Given the description of an element on the screen output the (x, y) to click on. 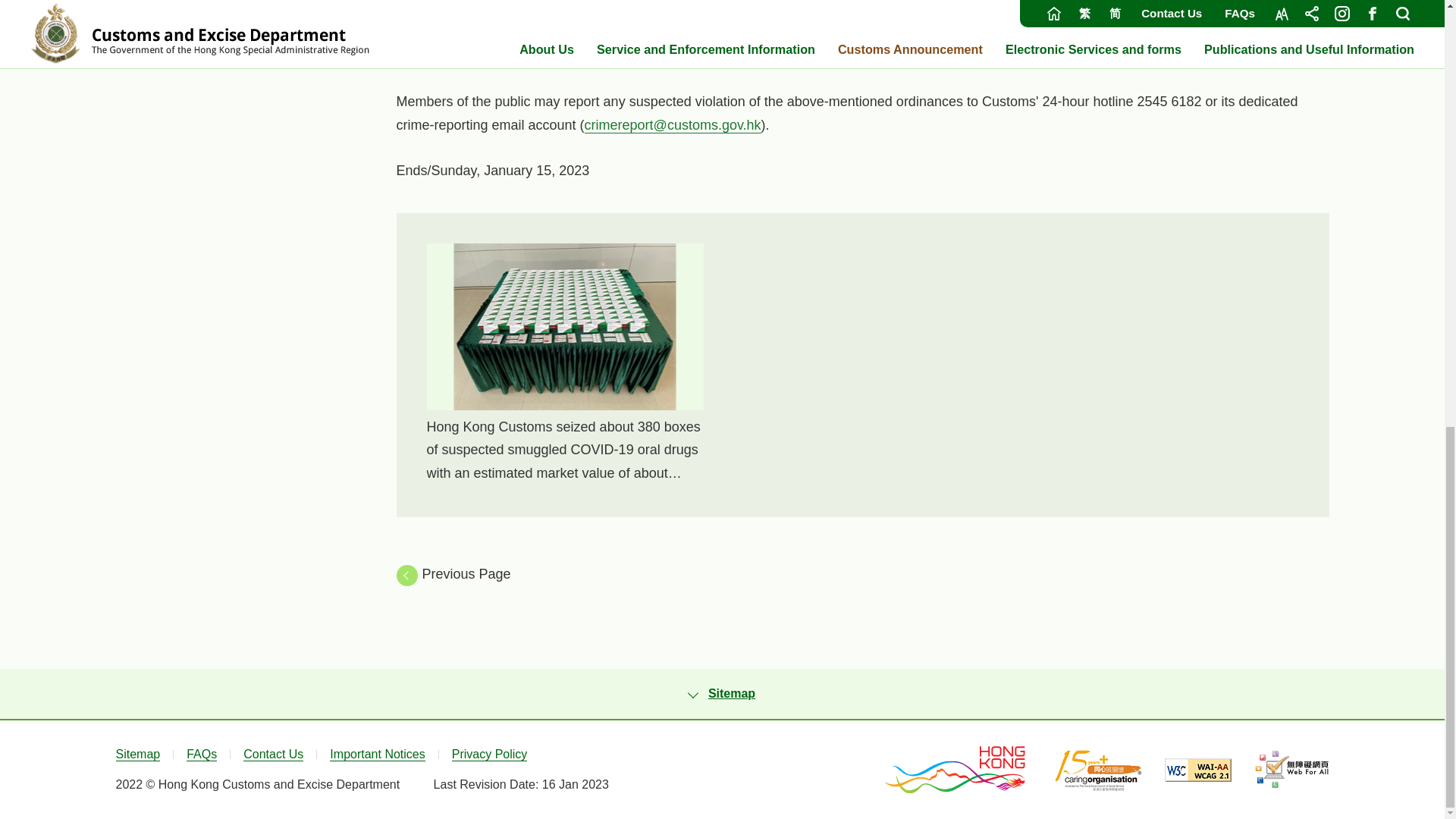
Caring Organisation, This link will open in new window (1097, 769)
WCAG 2.1 AA, This link will open in new window (1197, 770)
